Given the description of an element on the screen output the (x, y) to click on. 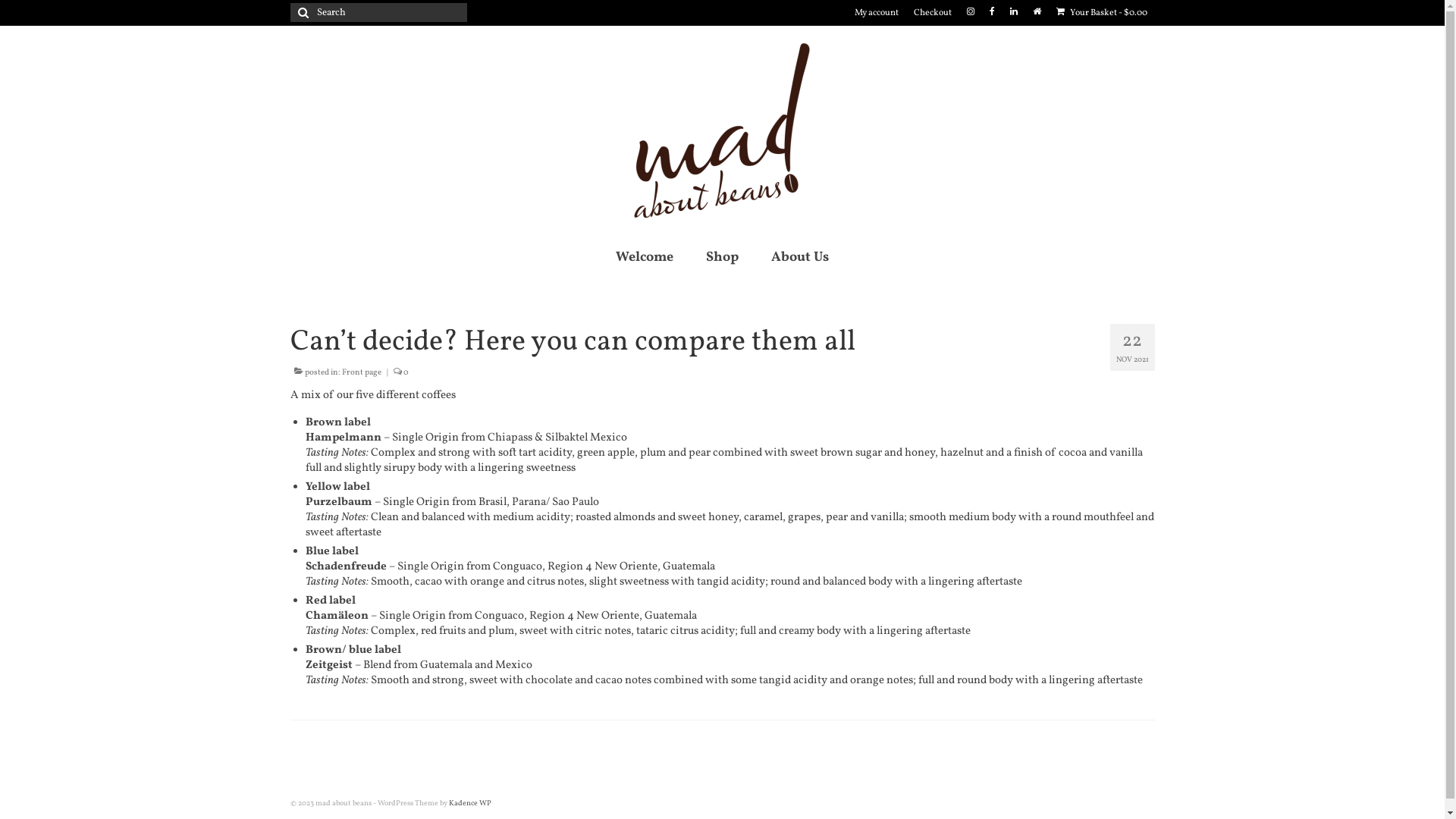
Kadence WP Element type: text (469, 802)
Welcome Element type: text (644, 257)
About Us Element type: text (800, 257)
Your Basket - $0.00 Element type: text (1101, 12)
Shop Element type: text (721, 257)
Checkout Element type: text (931, 12)
My account Element type: text (875, 12)
Front page Element type: text (360, 372)
